Given the description of an element on the screen output the (x, y) to click on. 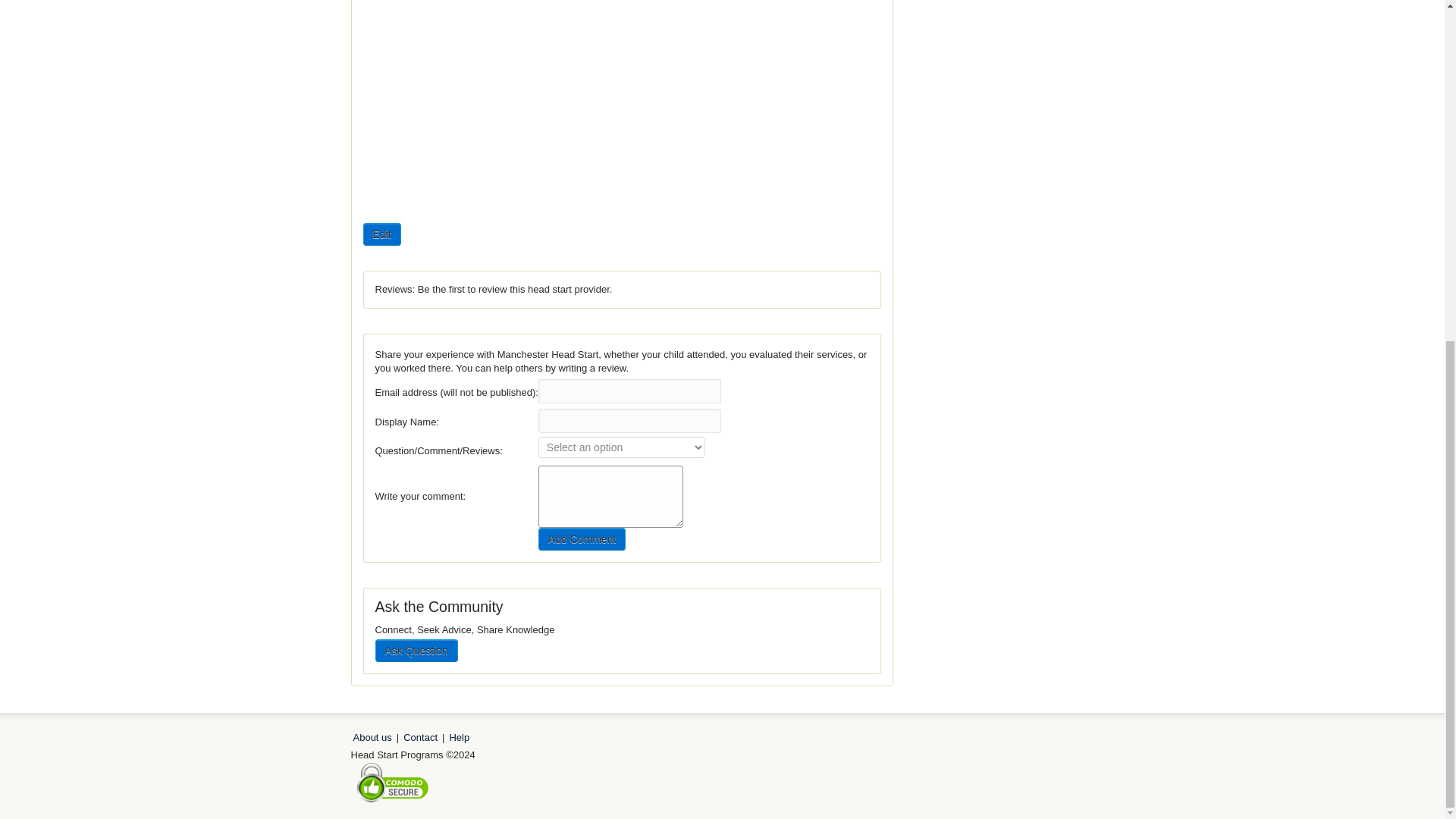
Advertisement (1001, 36)
Add Comment (582, 538)
Ask Question (415, 650)
Add Comment (582, 538)
Edit (381, 233)
Contact (420, 737)
Help (458, 737)
About us (372, 737)
